Given the description of an element on the screen output the (x, y) to click on. 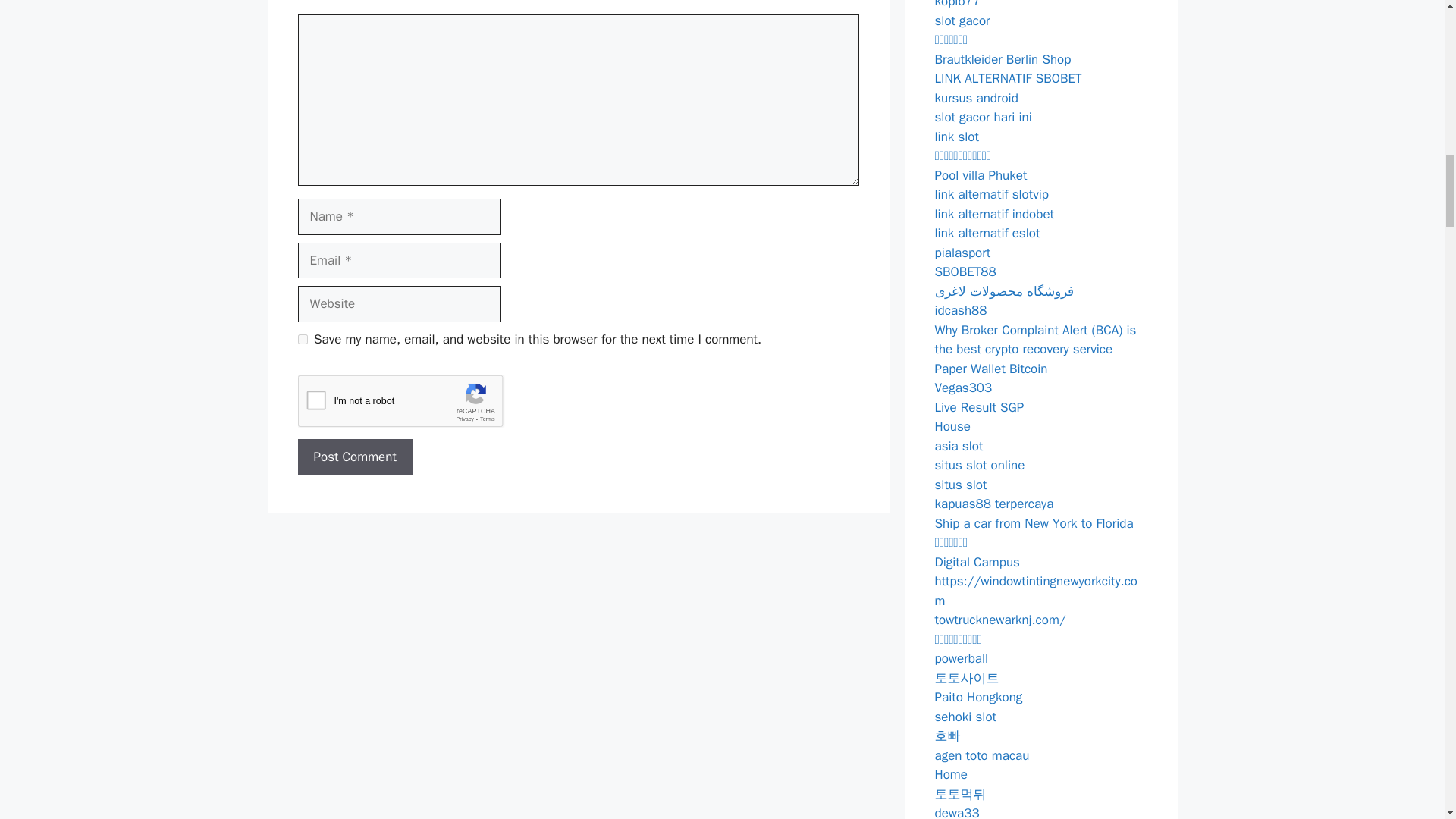
Post Comment (354, 456)
yes (302, 338)
Post Comment (354, 456)
reCAPTCHA (412, 404)
